Given the description of an element on the screen output the (x, y) to click on. 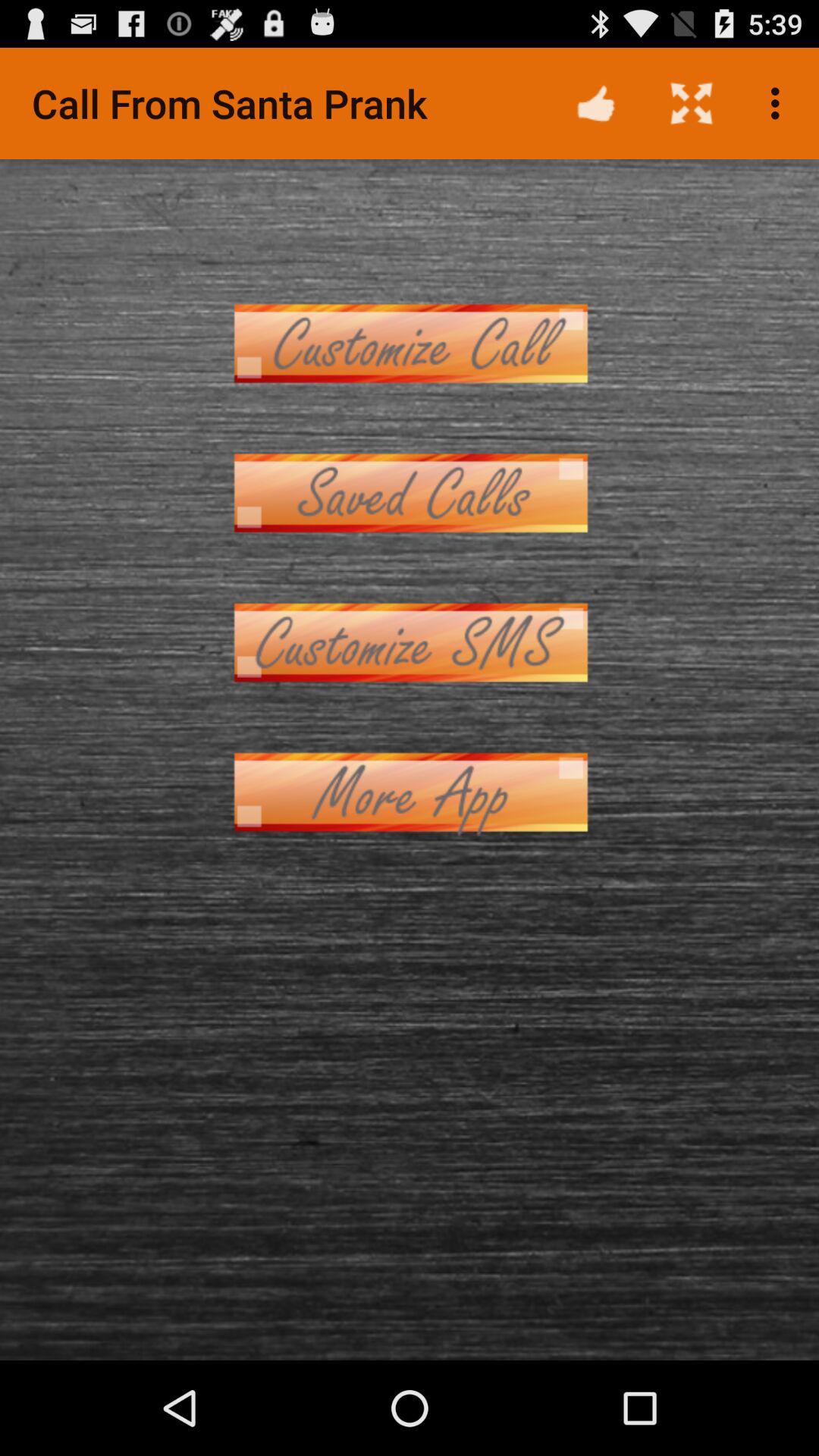
view saved calls (409, 492)
